Given the description of an element on the screen output the (x, y) to click on. 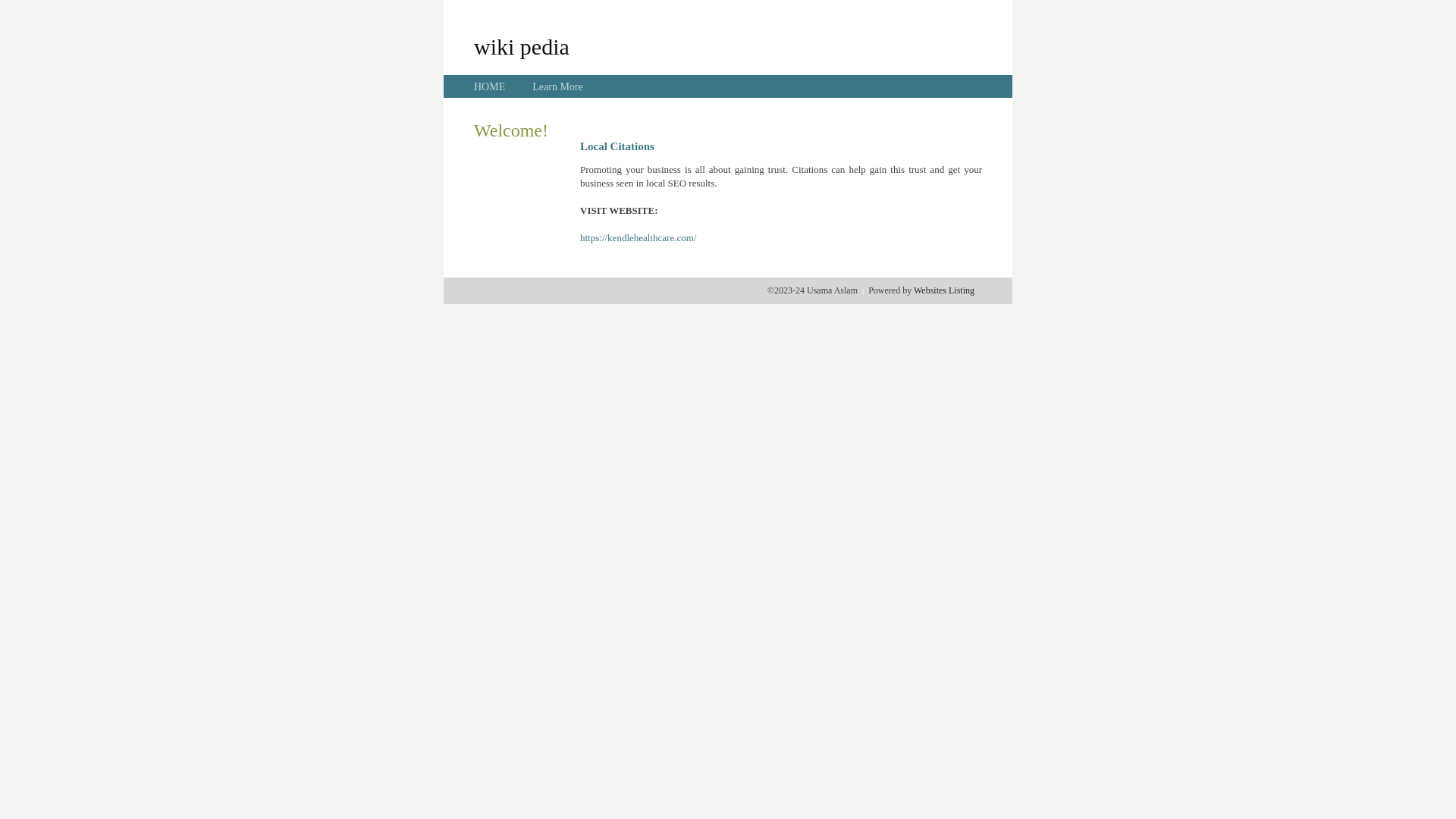
HOME Element type: text (489, 86)
wiki pedia Element type: text (521, 46)
https://kendlehealthcare.com/ Element type: text (638, 237)
Websites Listing Element type: text (943, 290)
Learn More Element type: text (557, 86)
